Given the description of an element on the screen output the (x, y) to click on. 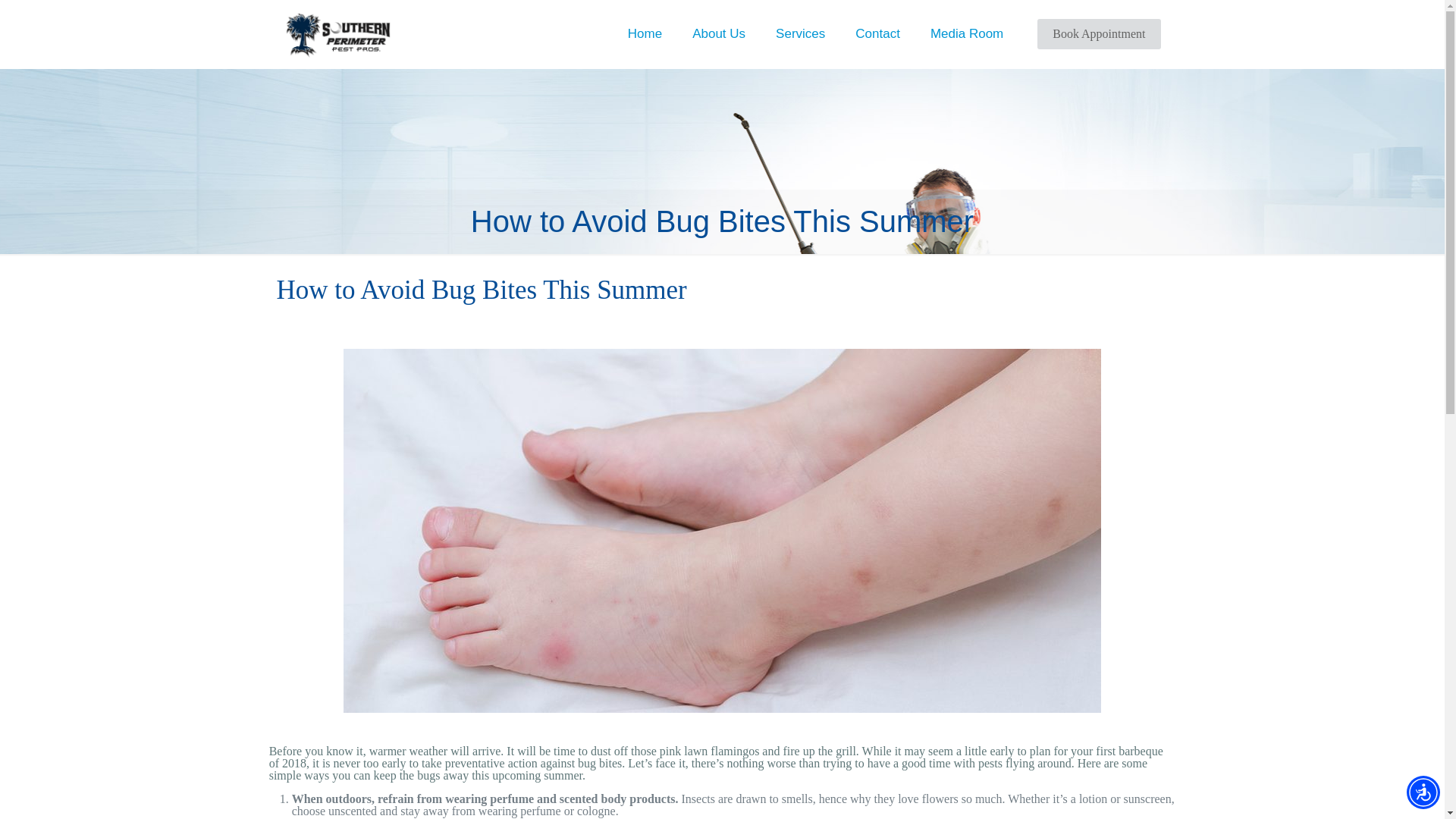
Book Appointment (1098, 33)
Media Room (966, 33)
Accessibility Menu (1422, 792)
Southern Perimeter (337, 33)
About Us (718, 33)
Contact (877, 33)
Services (800, 33)
Home (644, 33)
